Given the description of an element on the screen output the (x, y) to click on. 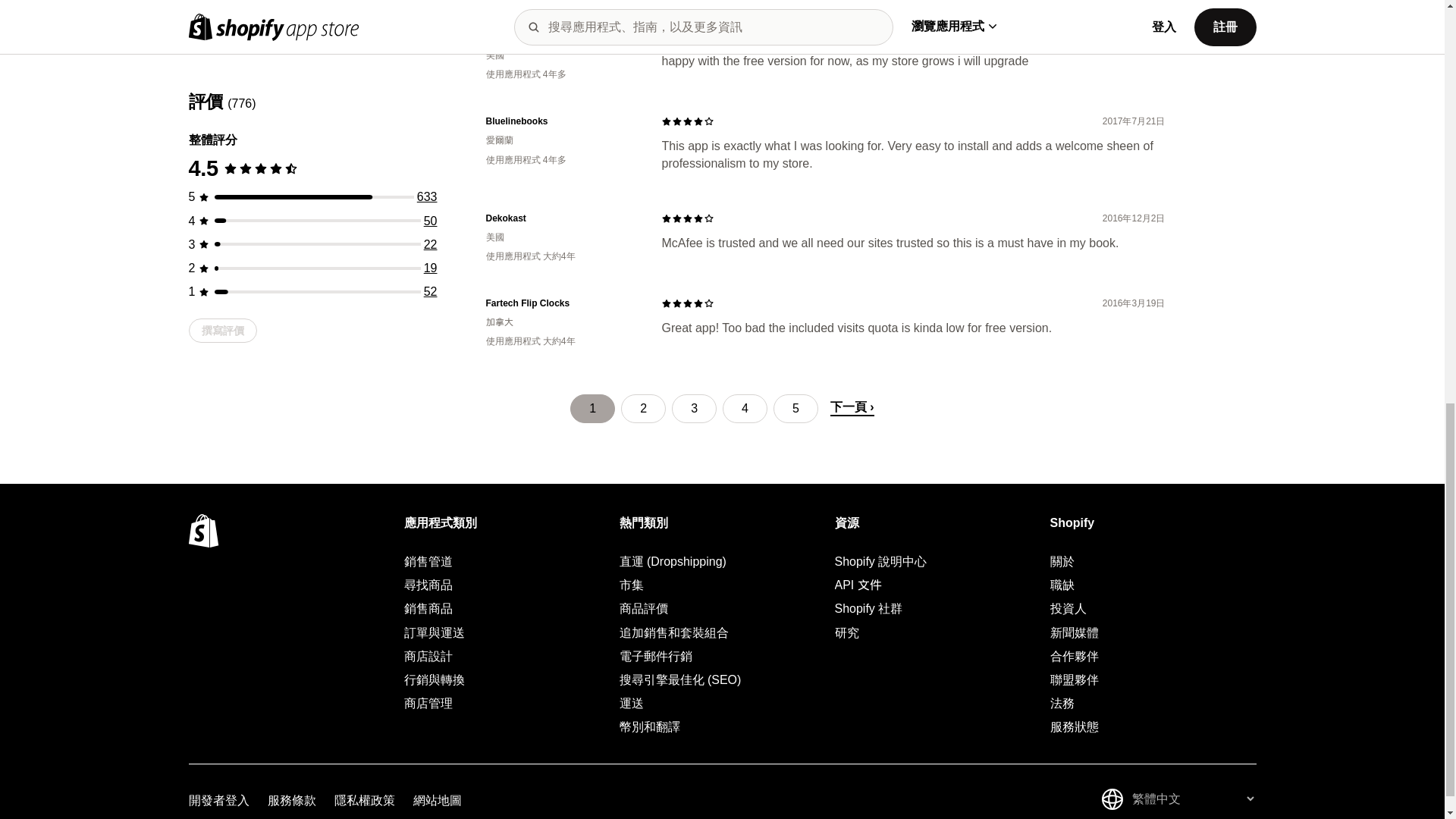
Bluelinebooks (560, 121)
Fartech Flip Clocks (560, 303)
Battle Patches (560, 36)
Dekokast (560, 218)
